Given the description of an element on the screen output the (x, y) to click on. 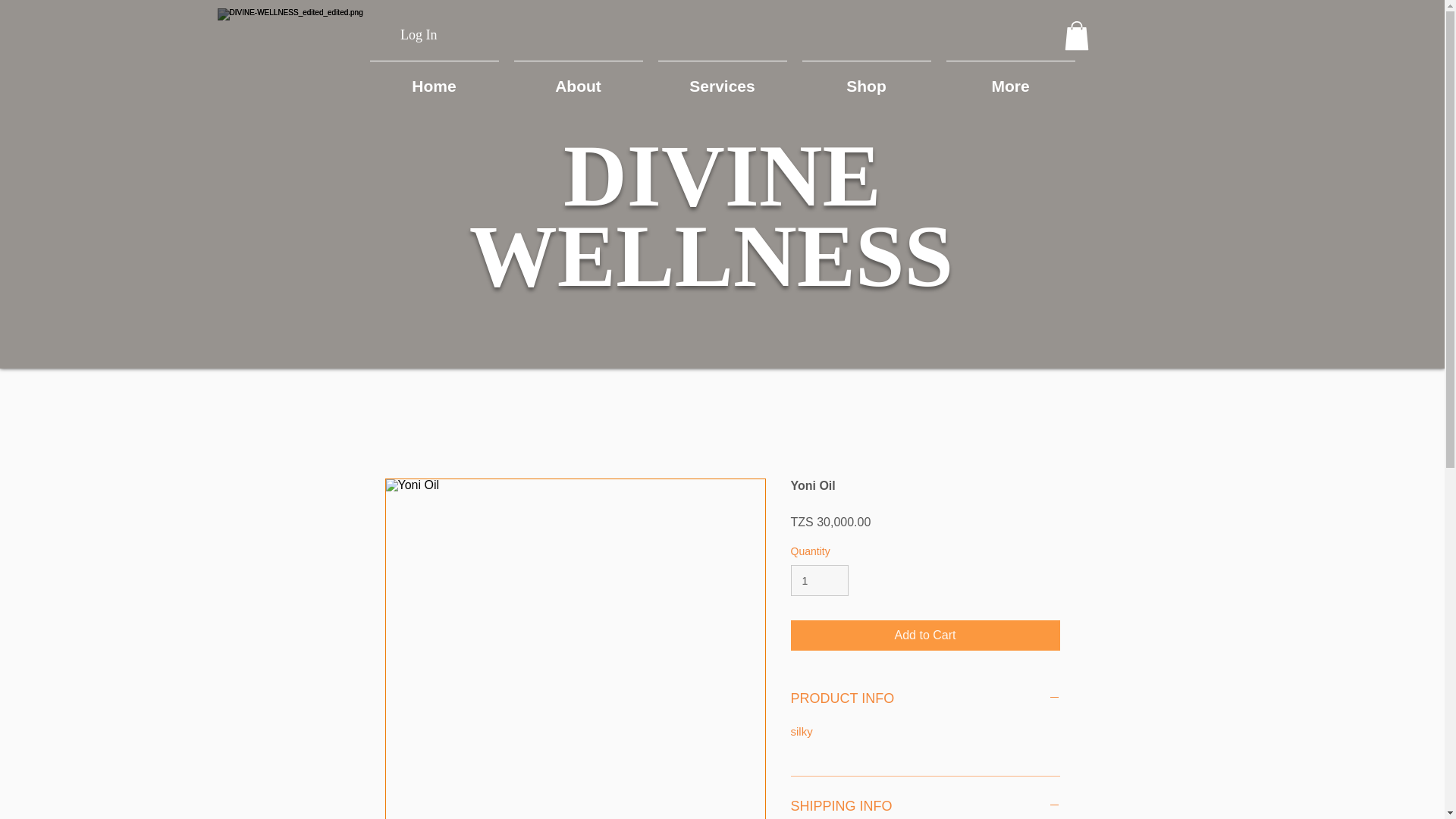
Home (434, 78)
PRODUCT INFO (924, 699)
1 (818, 580)
Log In (419, 35)
Shop (866, 78)
Services (722, 78)
About (578, 78)
Add to Cart (924, 634)
SHIPPING INFO (924, 806)
